Given the description of an element on the screen output the (x, y) to click on. 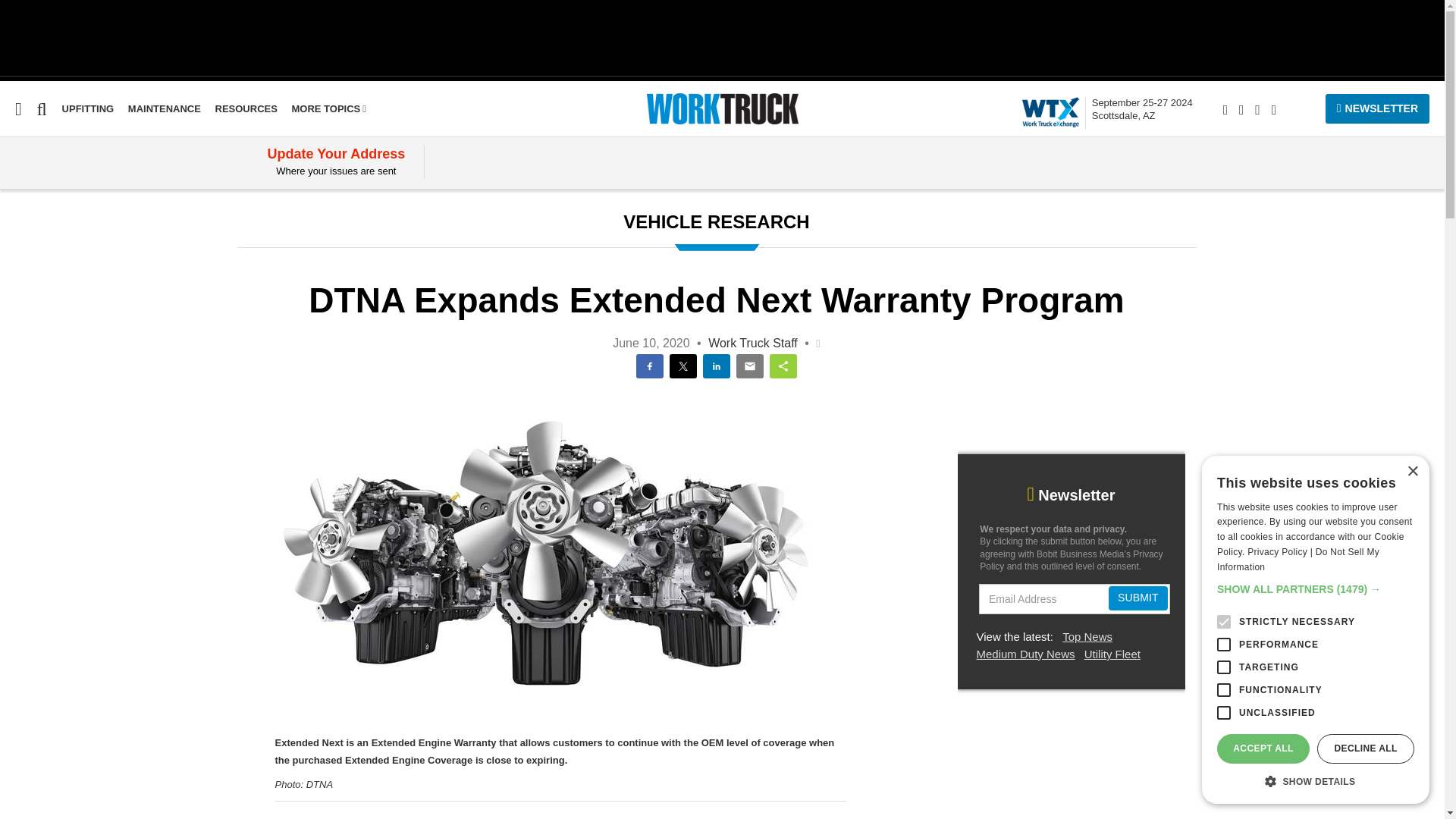
Fuel (11, 236)
Maintenance (164, 108)
Safety (17, 293)
Maintenance (37, 264)
MORE TOPICS (1142, 109)
Fuel (328, 108)
RESOURCES (11, 236)
September 25-27 2024 (246, 108)
Telematics (1142, 109)
Home (31, 323)
Home (16, 206)
Resources (16, 206)
Telematics (246, 108)
Maintenance (31, 323)
